Given the description of an element on the screen output the (x, y) to click on. 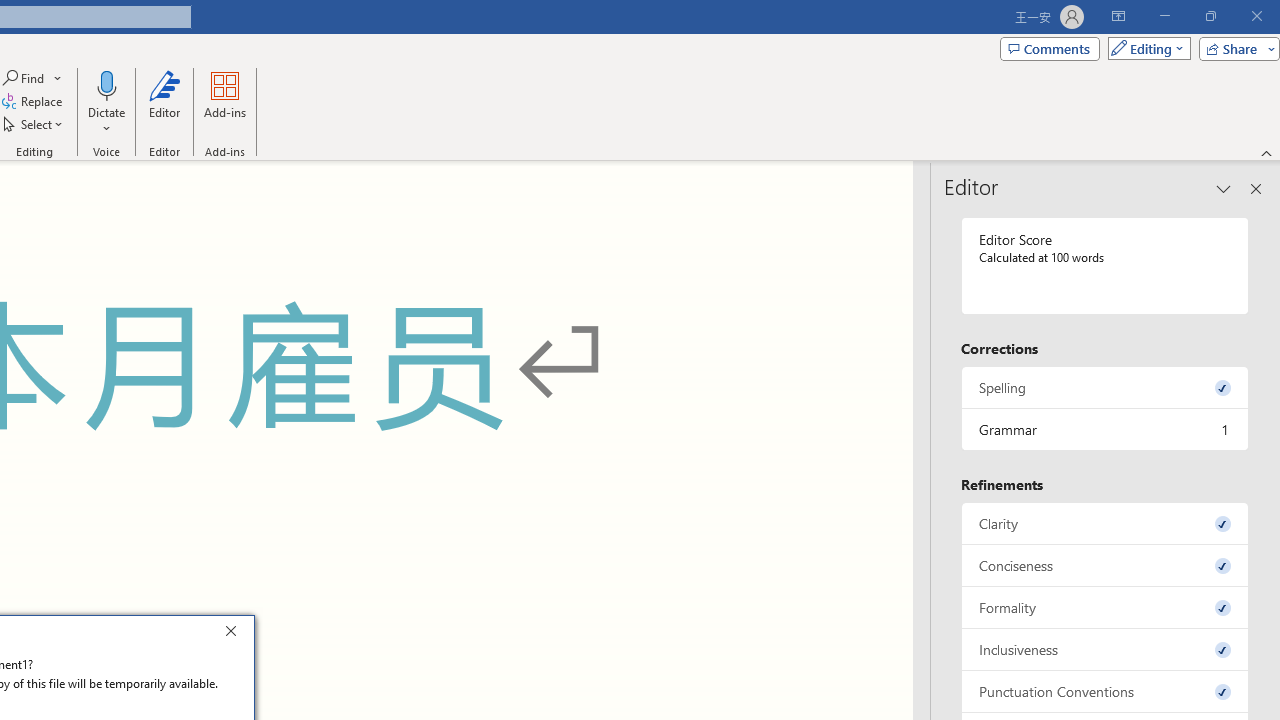
Formality, 0 issues. Press space or enter to review items. (1105, 606)
Clarity, 0 issues. Press space or enter to review items. (1105, 523)
Spelling, 0 issues. Press space or enter to review items. (1105, 387)
Grammar, 1 issue. Press space or enter to review items. (1105, 429)
Conciseness, 0 issues. Press space or enter to review items. (1105, 565)
